Given the description of an element on the screen output the (x, y) to click on. 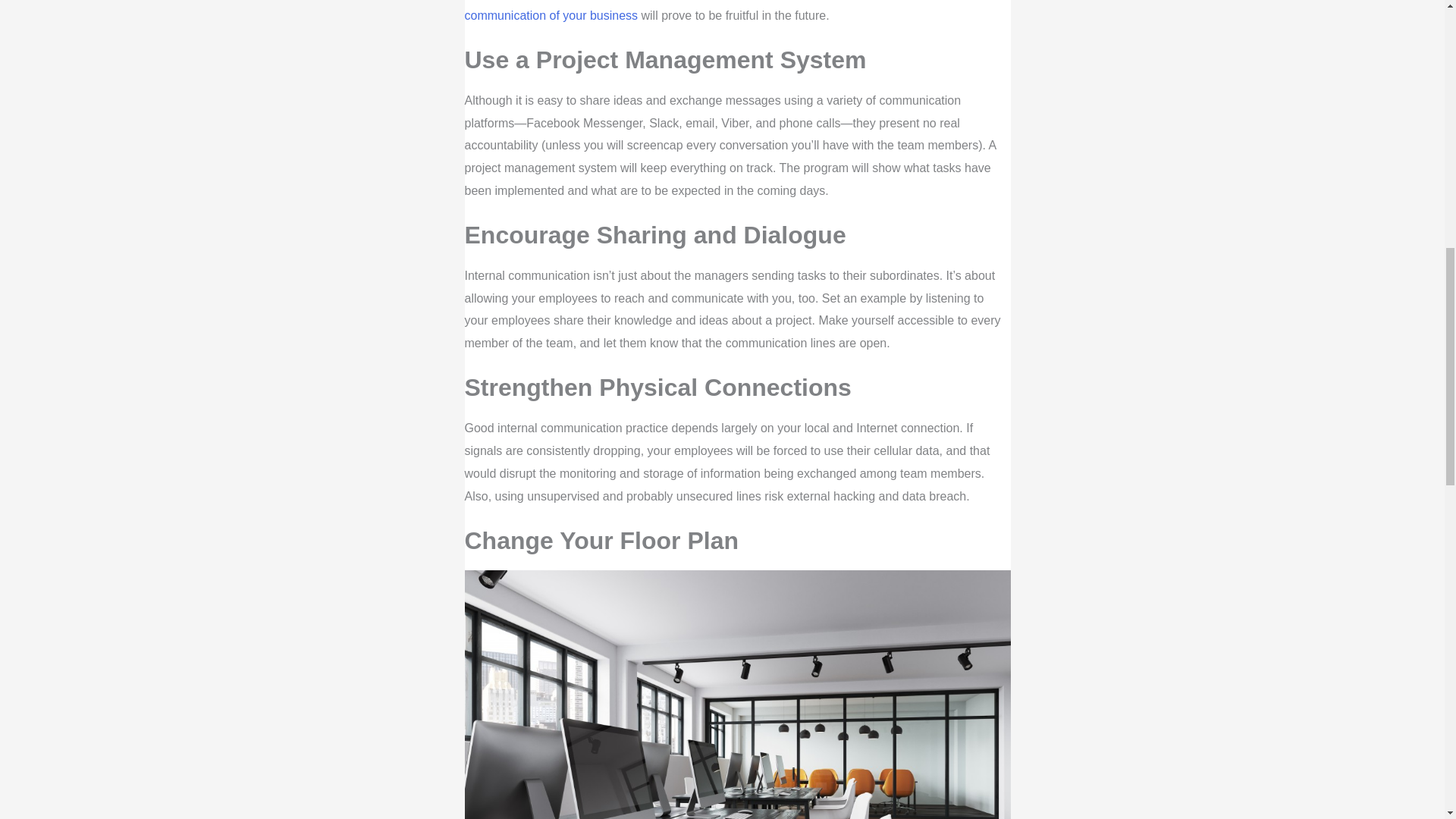
improve the internal communication of your business (731, 11)
Forbes (731, 11)
